Given the description of an element on the screen output the (x, y) to click on. 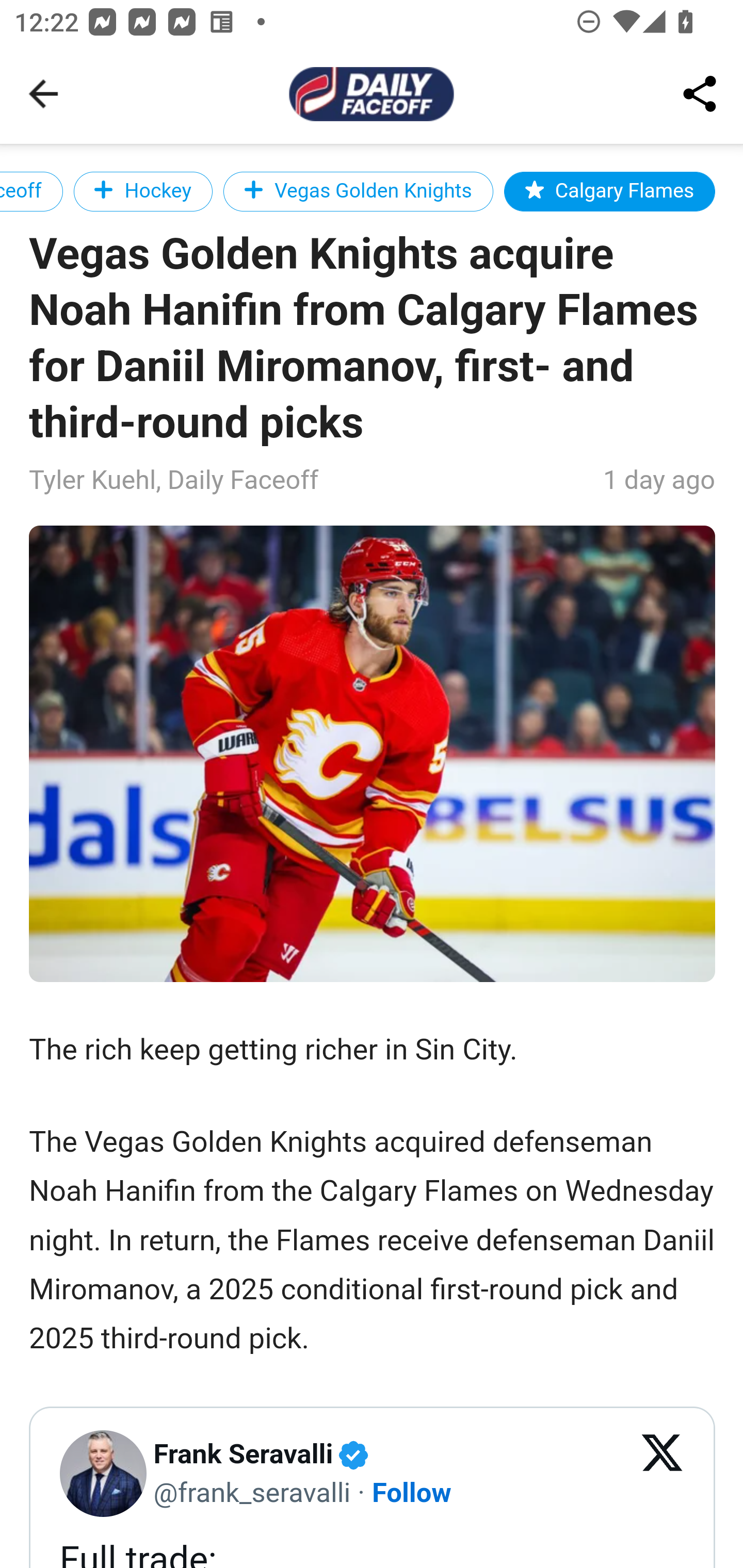
Hockey (142, 191)
Vegas Golden Knights (358, 191)
Calgary Flames (609, 191)
View on X (662, 1473)
@frank_seravalli (251, 1490)
Follow (412, 1490)
